Given the description of an element on the screen output the (x, y) to click on. 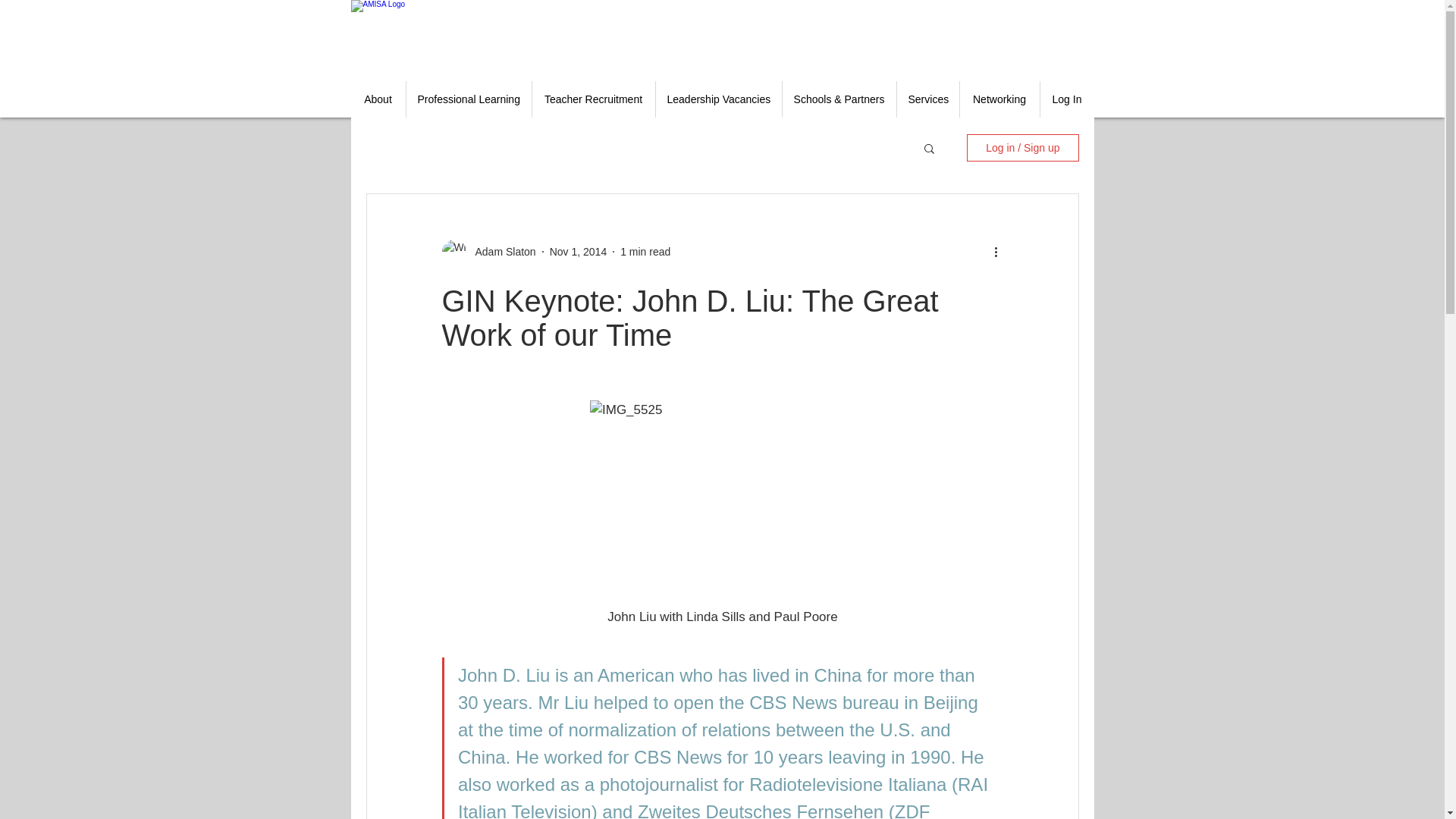
Adam Slaton (500, 252)
Nov 1, 2014 (578, 251)
1 min read (644, 251)
AMISA-logo-transparent.png (433, 35)
